Given the description of an element on the screen output the (x, y) to click on. 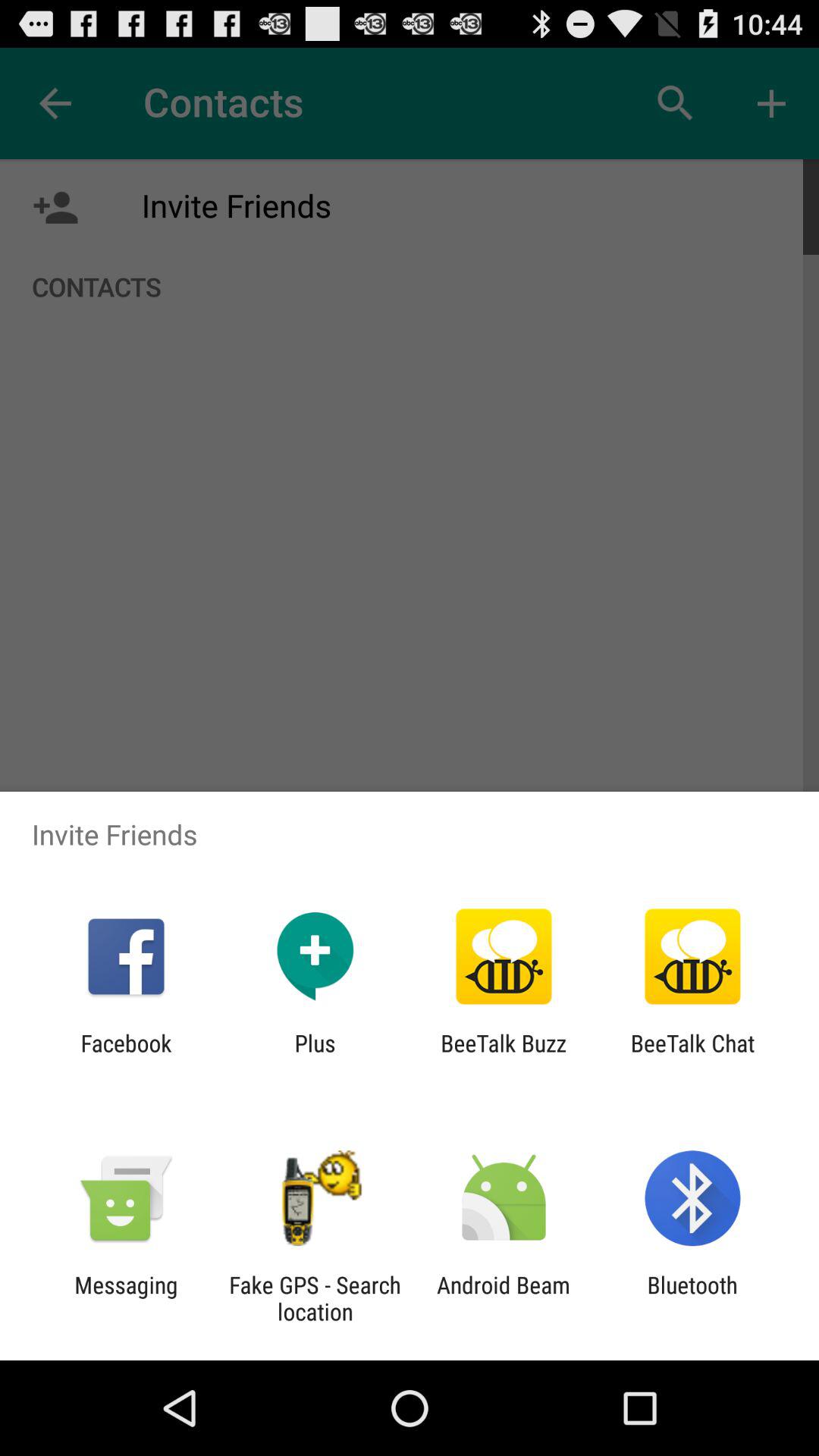
open android beam item (503, 1298)
